Given the description of an element on the screen output the (x, y) to click on. 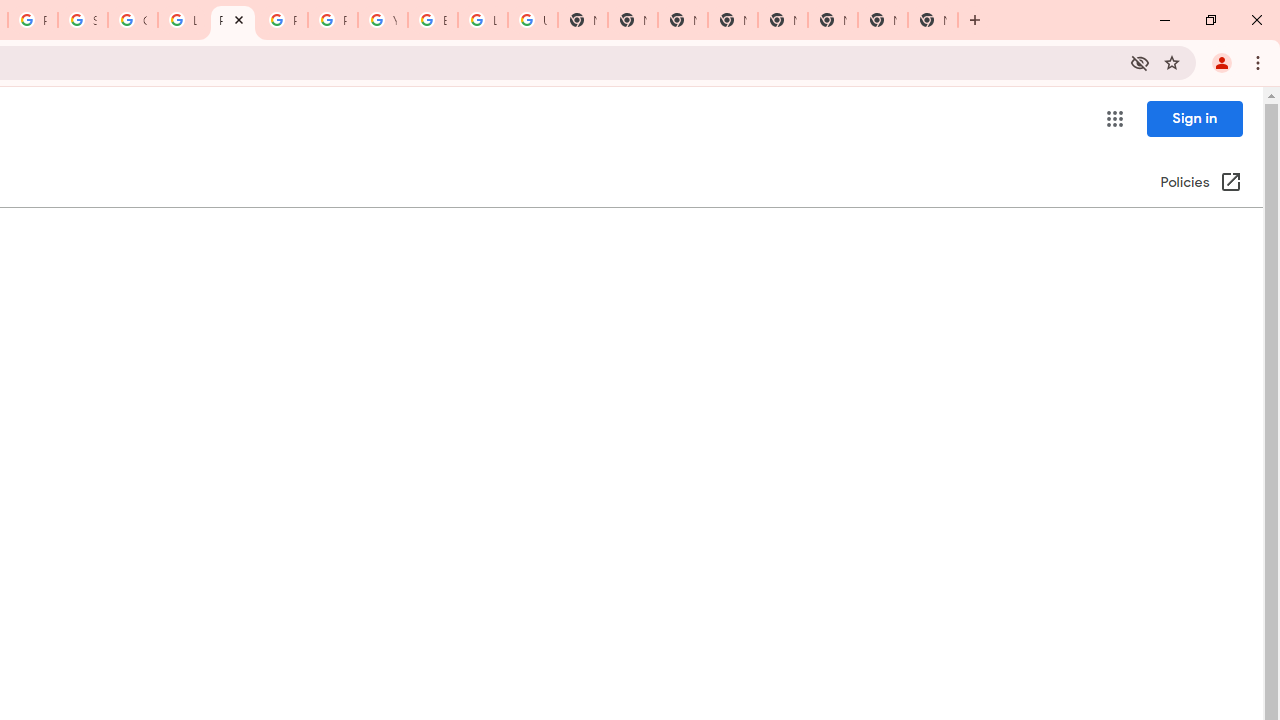
Policies (Open in a new window) (1200, 183)
Sign in - Google Accounts (82, 20)
Privacy Help Center - Policies Help (232, 20)
